Given the description of an element on the screen output the (x, y) to click on. 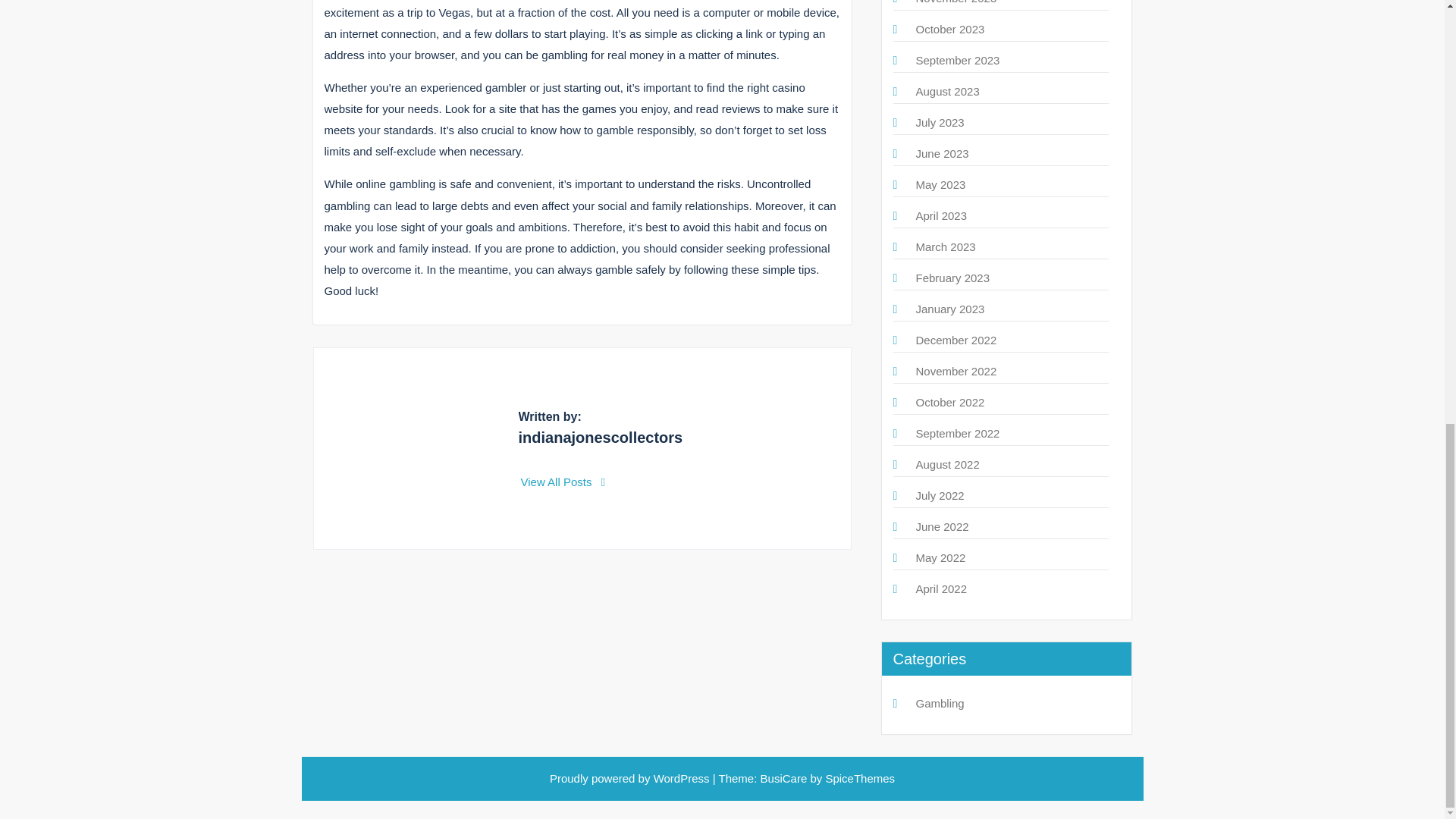
October 2023 (950, 29)
WordPress (681, 778)
February 2023 (952, 277)
April 2023 (941, 215)
View All Posts (562, 481)
August 2022 (947, 463)
November 2022 (956, 370)
March 2023 (945, 246)
July 2023 (939, 122)
May 2022 (940, 557)
July 2022 (939, 495)
September 2022 (957, 432)
Gambling (939, 703)
April 2022 (941, 588)
November 2023 (956, 2)
